Given the description of an element on the screen output the (x, y) to click on. 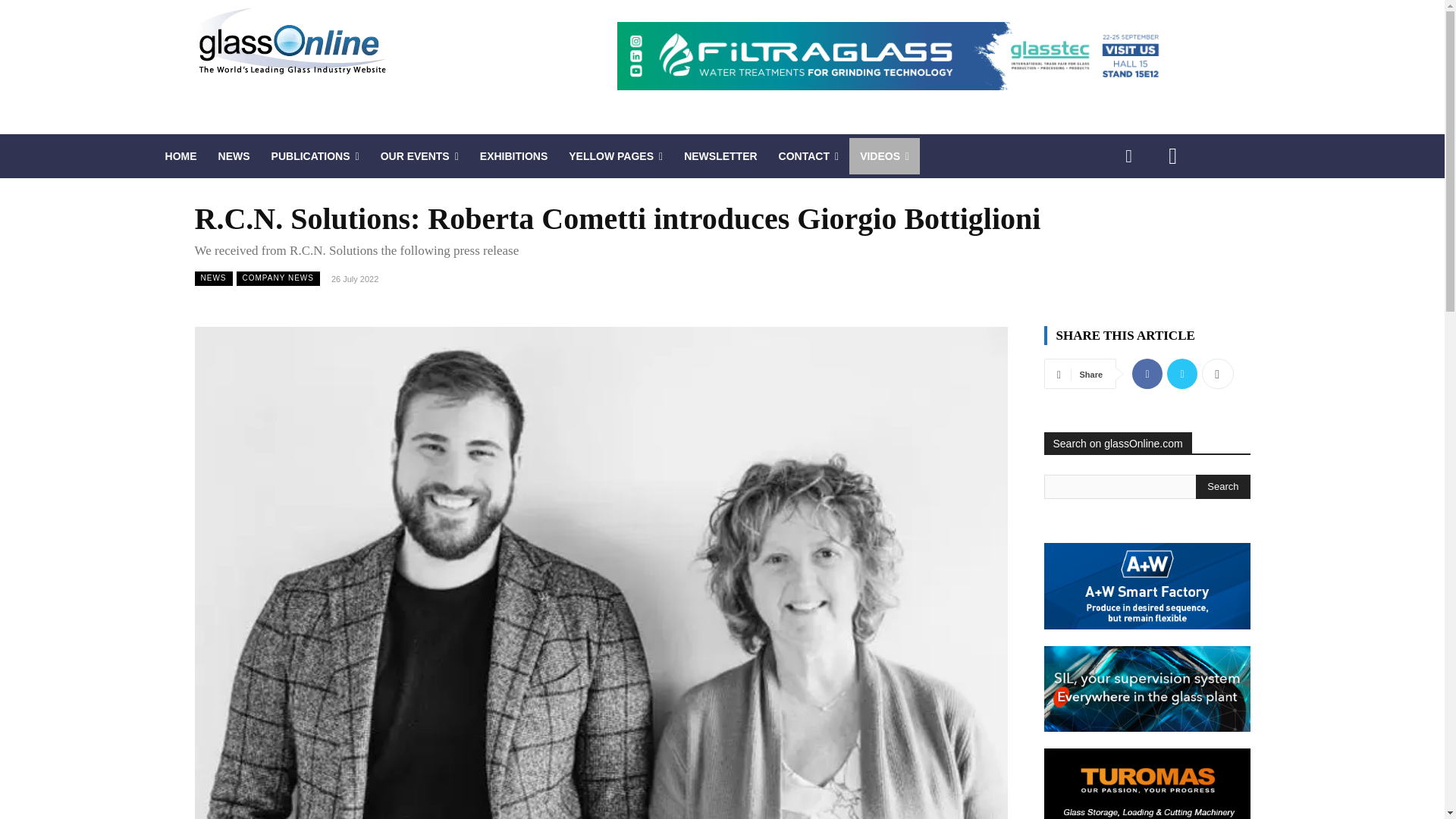
Search (1222, 486)
Linkedin (1128, 156)
Youtube (1172, 156)
